Given the description of an element on the screen output the (x, y) to click on. 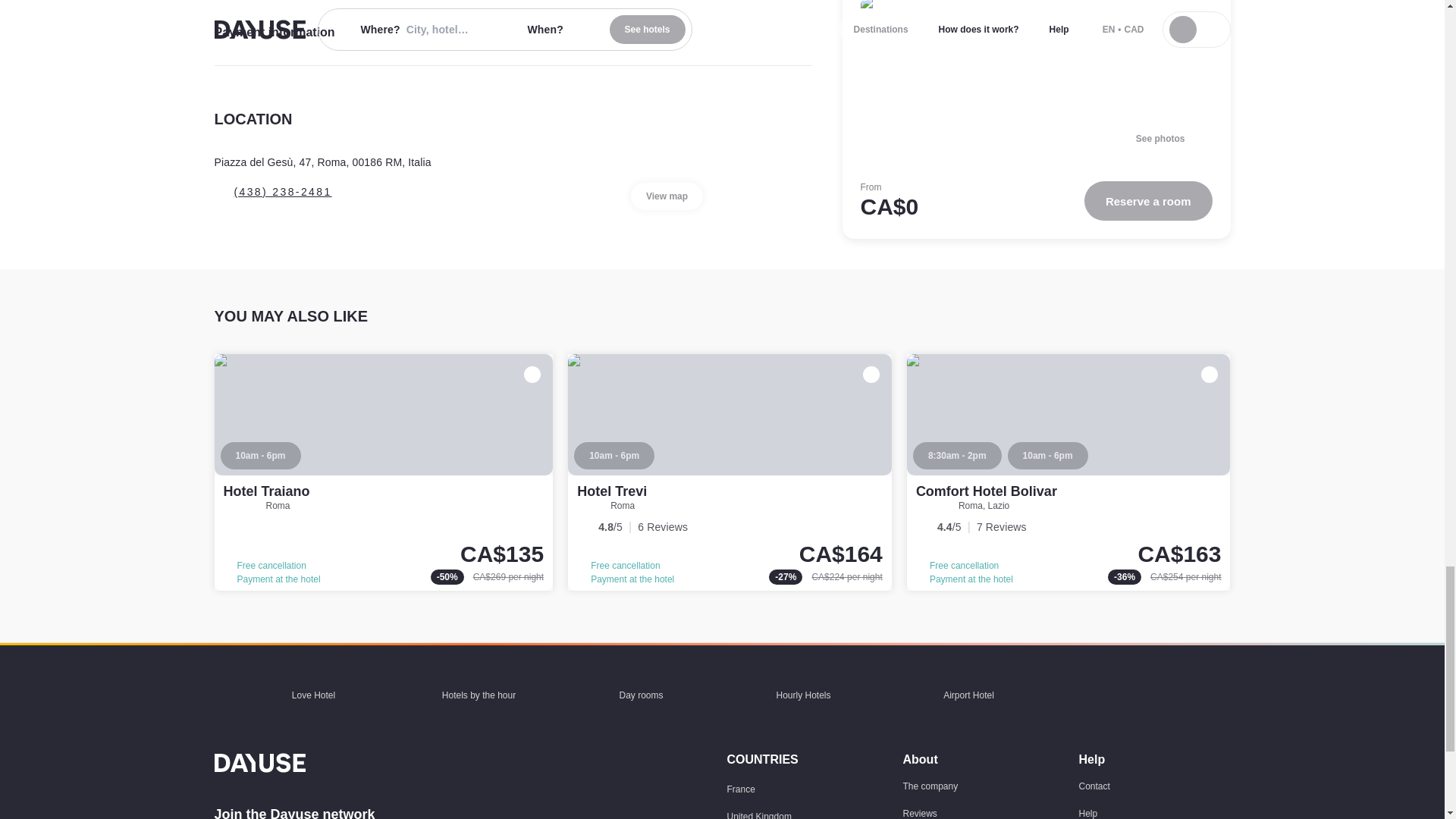
Hotel Trevi (611, 491)
Hotel Traiano (383, 471)
Comfort Hotel Bolivar (986, 491)
Hotel Trevi (729, 471)
Comfort Hotel Bolivar (1068, 471)
Hotel Traiano (265, 491)
